Given the description of an element on the screen output the (x, y) to click on. 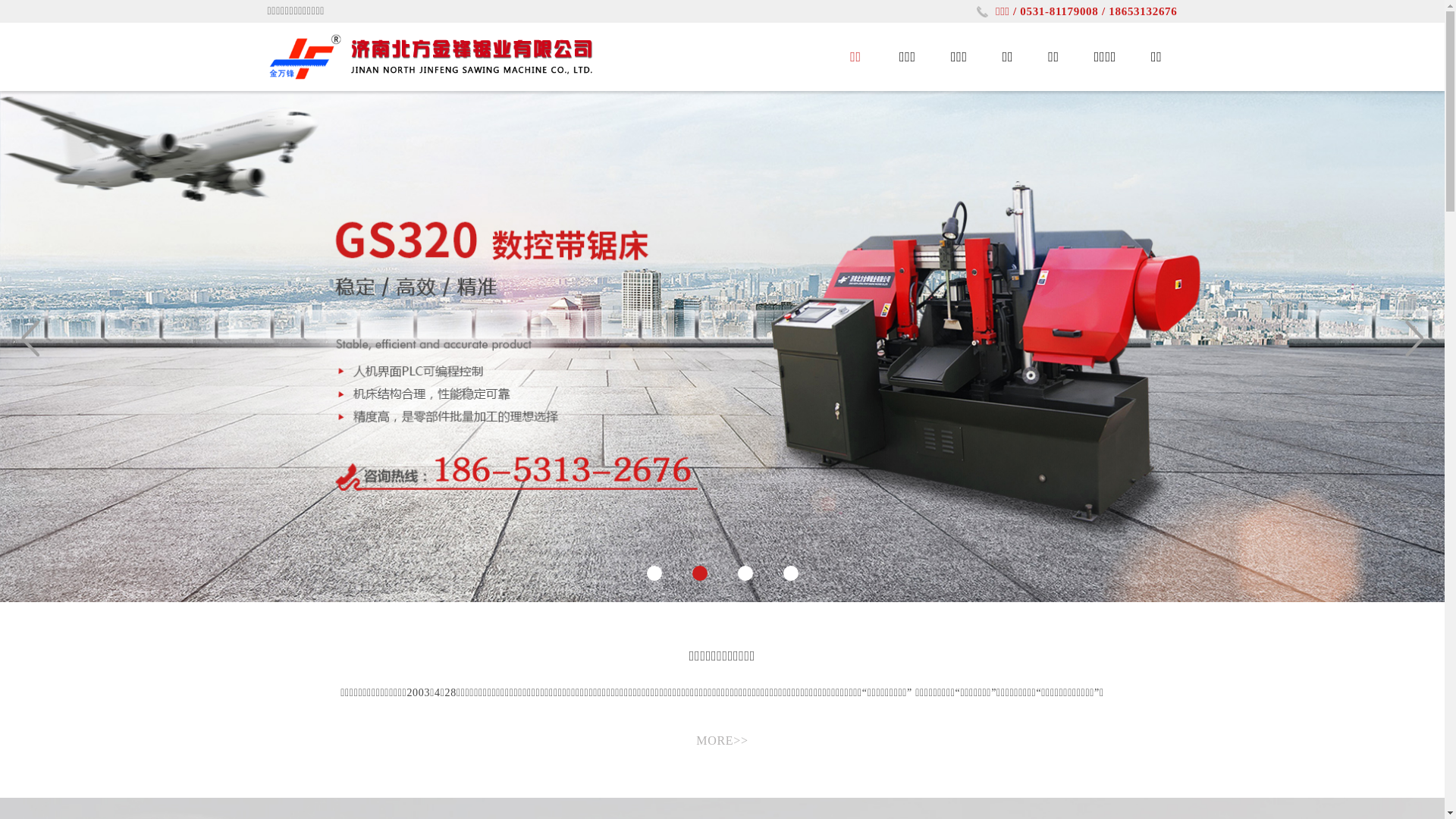
MORE>> Element type: text (721, 740)
